Given the description of an element on the screen output the (x, y) to click on. 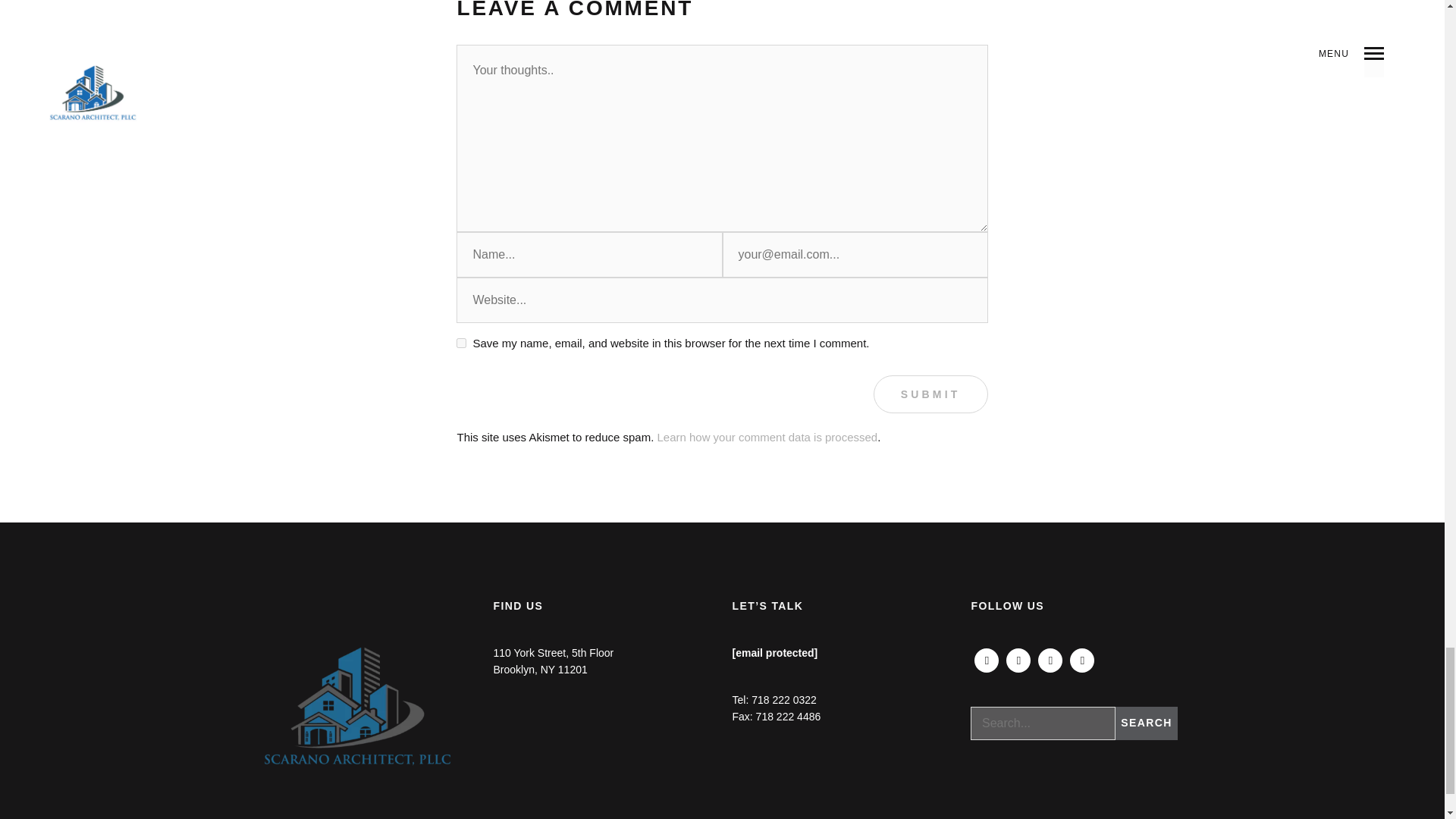
Facebook (986, 660)
Twitter (1050, 660)
Instagram (1018, 660)
Submit (930, 394)
yes (461, 343)
Medium (1082, 660)
